Given the description of an element on the screen output the (x, y) to click on. 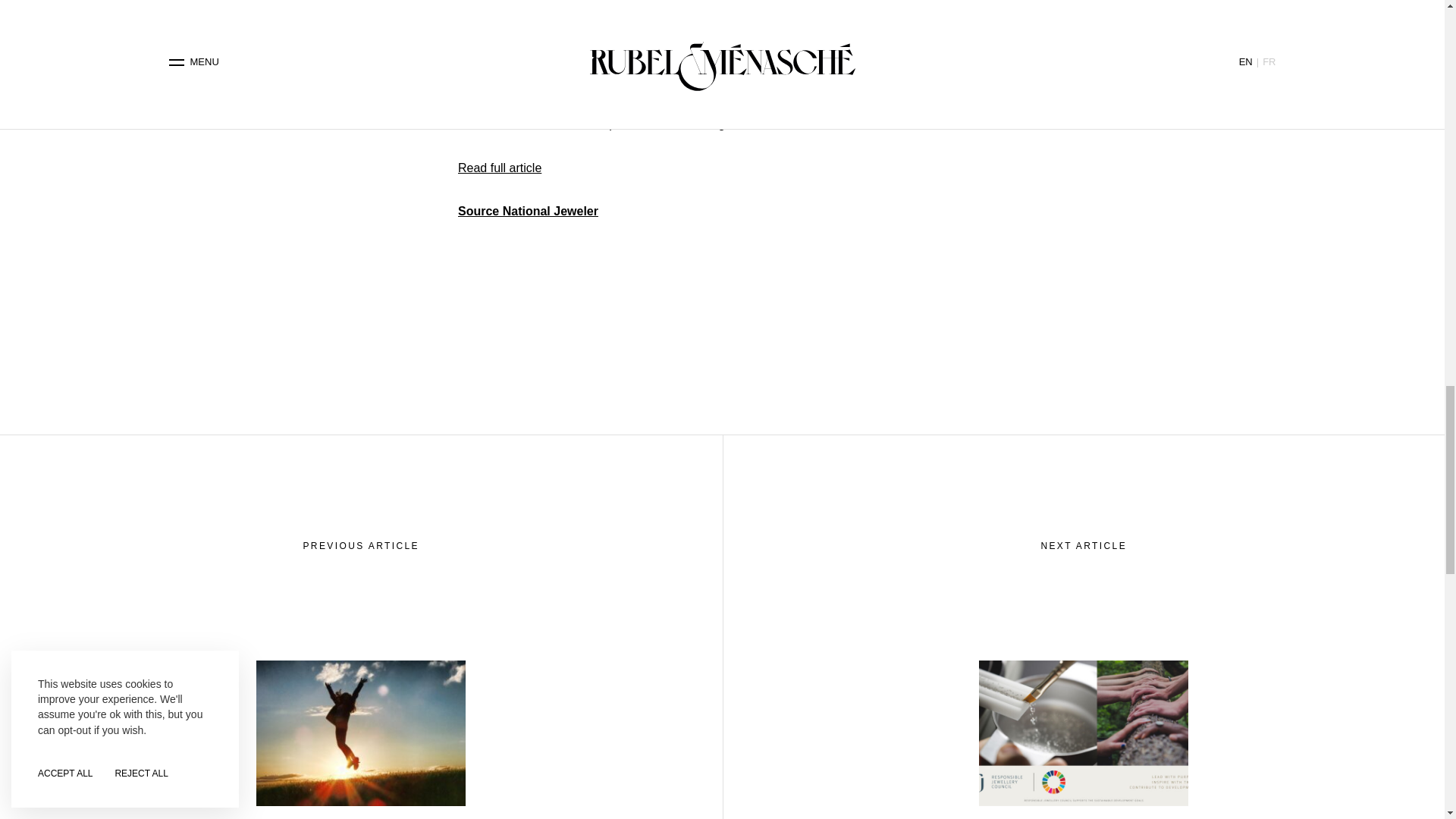
Source National Jeweler (528, 210)
Read full article (499, 167)
